Given the description of an element on the screen output the (x, y) to click on. 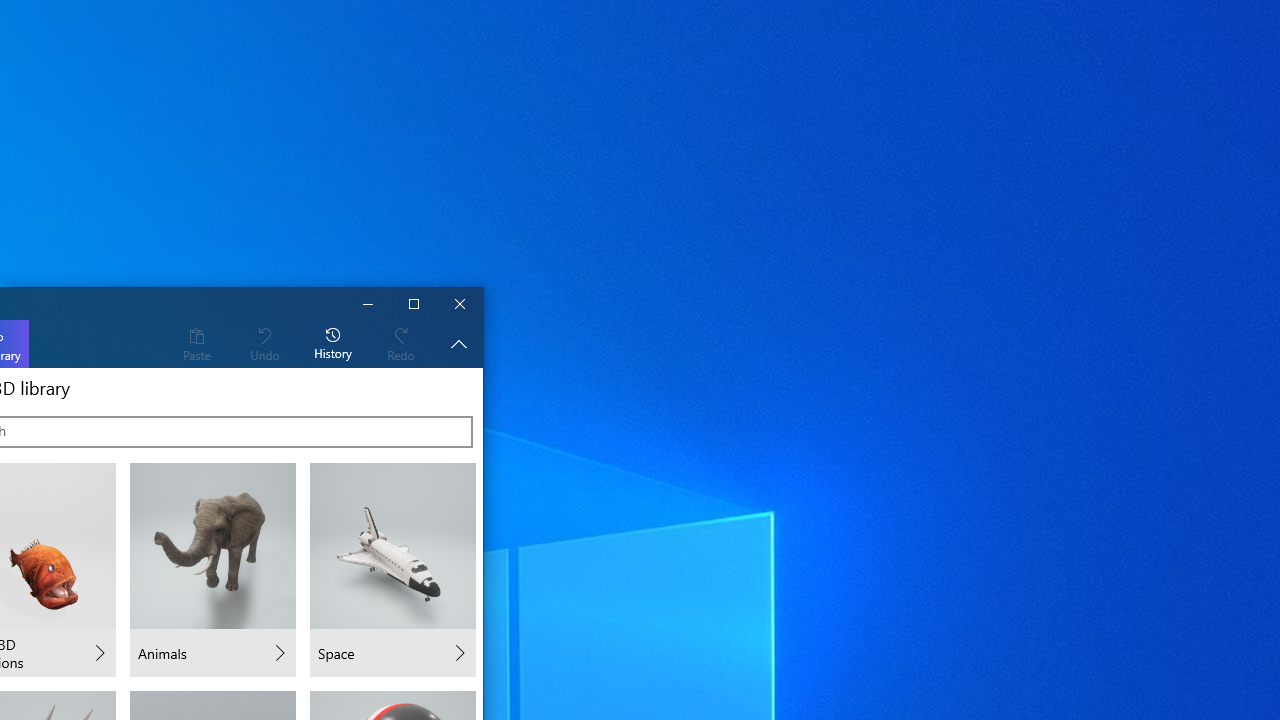
Paste (196, 343)
Space (392, 570)
Hide description (458, 343)
Animals (212, 570)
Redo (401, 343)
History (333, 343)
Undo (264, 343)
